Given the description of an element on the screen output the (x, y) to click on. 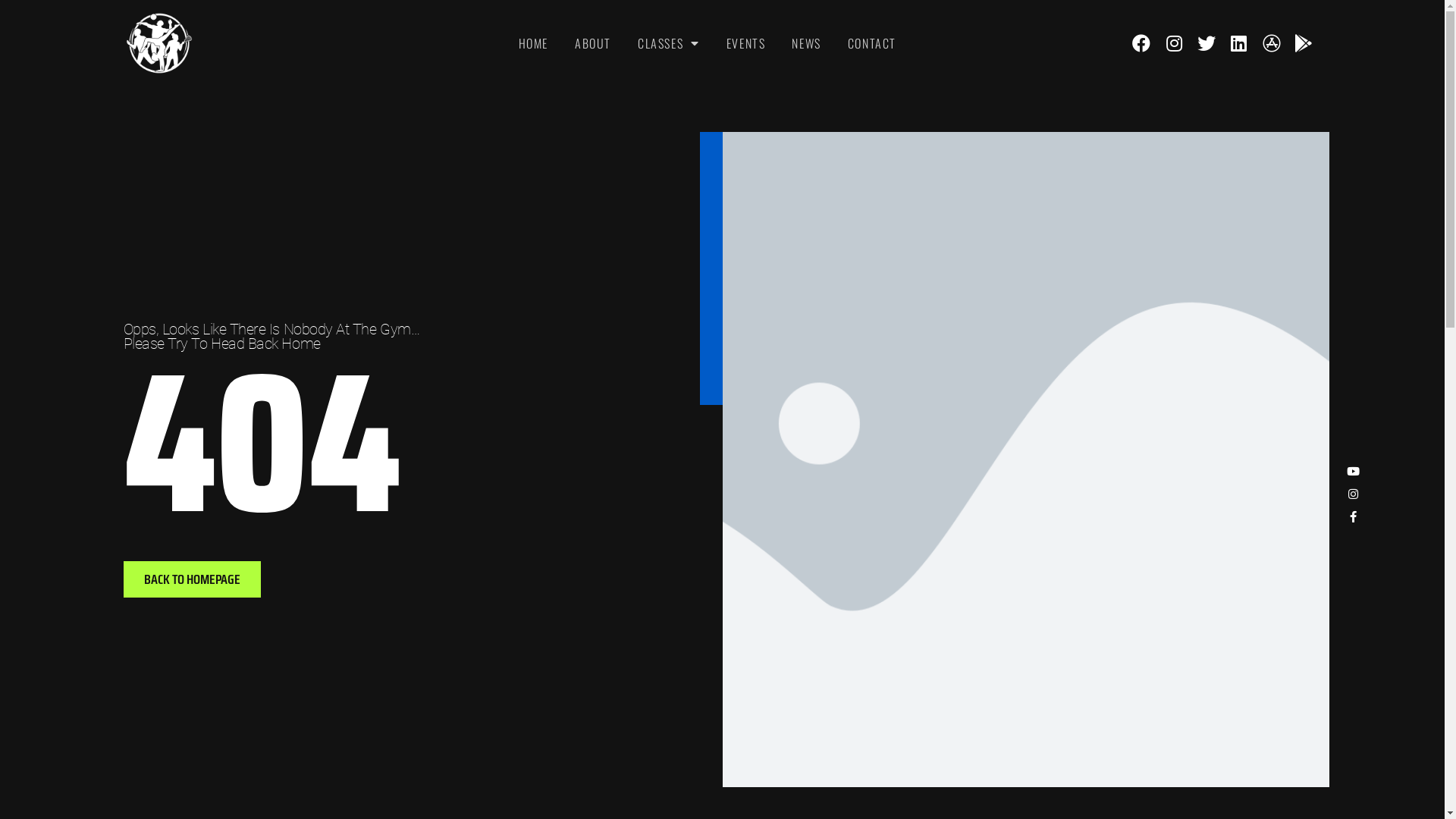
NEWS Element type: text (805, 43)
ABOUT Element type: text (592, 43)
CONTACT Element type: text (871, 43)
EVENTS Element type: text (745, 43)
BACK TO HOMEPAGE Element type: text (191, 579)
CLASSES Element type: text (668, 43)
HOME Element type: text (533, 43)
